Given the description of an element on the screen output the (x, y) to click on. 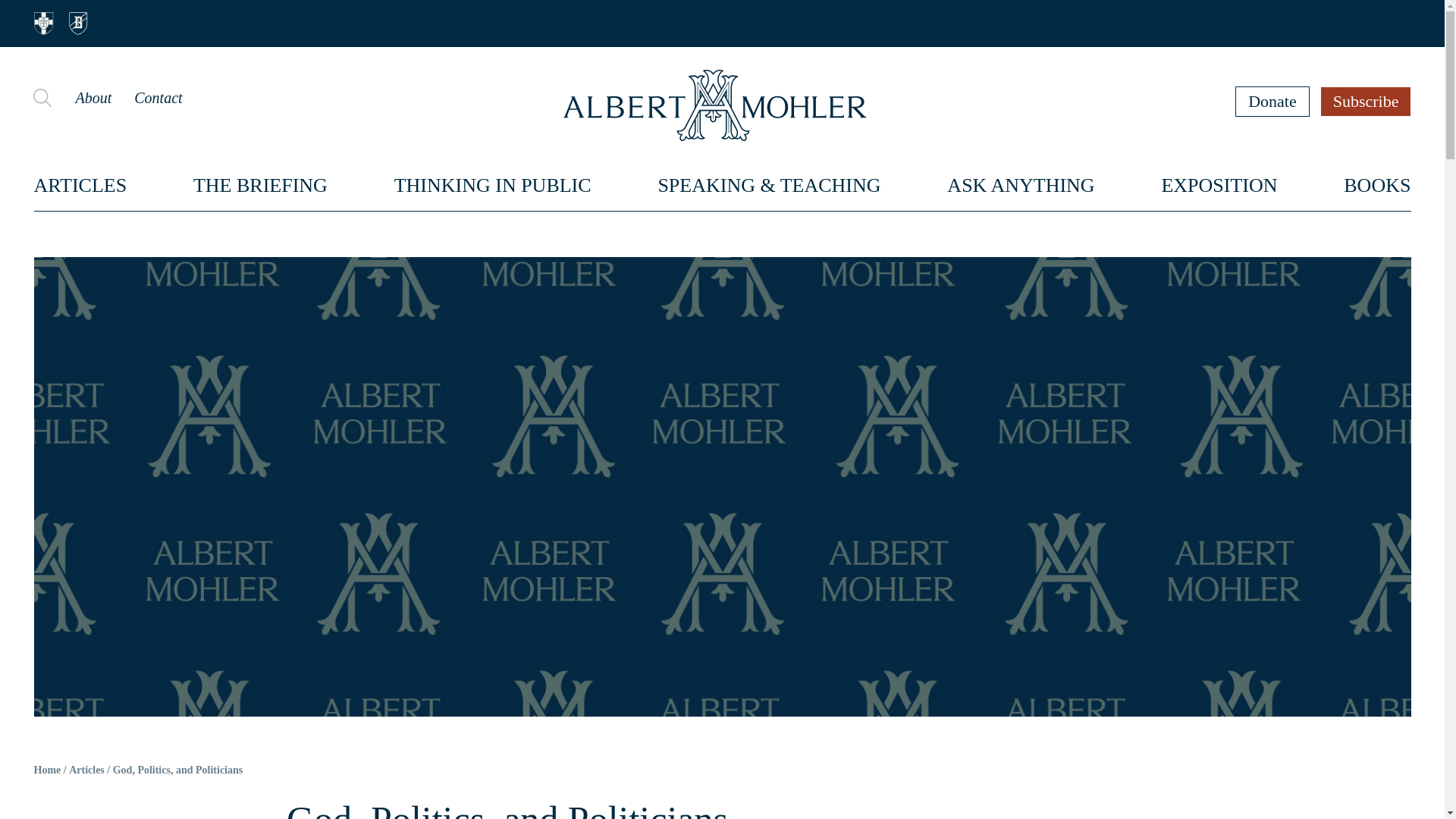
ASK ANYTHING (1020, 185)
EXPOSITION (1218, 185)
Home (47, 770)
Subscribe (1366, 101)
About (93, 97)
THINKING IN PUBLIC (492, 185)
Donate (1272, 101)
Articles (86, 770)
THE BRIEFING (260, 185)
ARTICLES (79, 185)
